Given the description of an element on the screen output the (x, y) to click on. 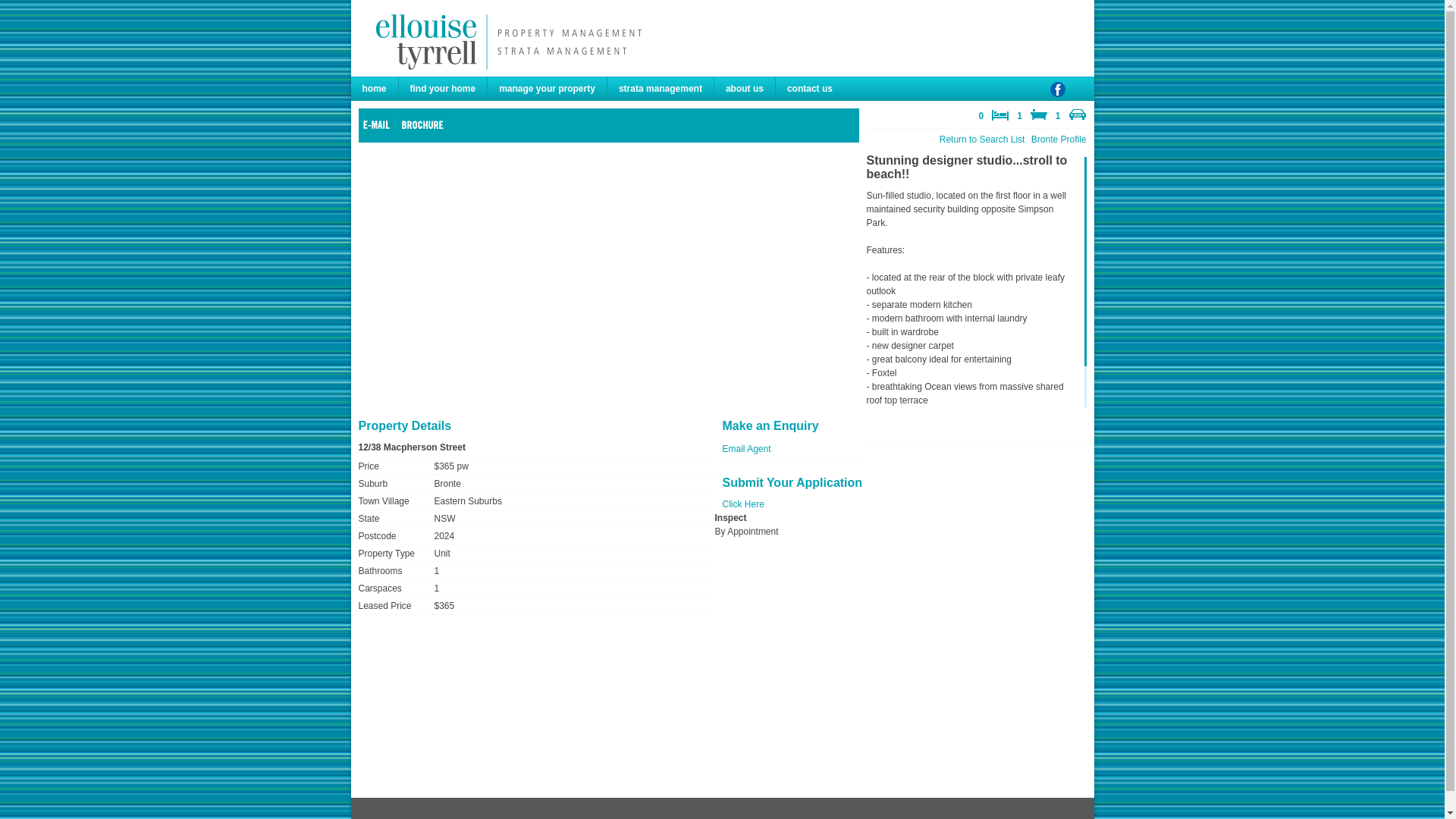
contact us Element type: text (809, 88)
Return to Search List Element type: text (982, 139)
strata management Element type: text (660, 88)
Email Agent Element type: text (745, 448)
Click Here Element type: text (742, 503)
Property Brochure Element type: hover (424, 124)
manage your property Element type: text (547, 88)
find your home Element type: text (443, 88)
Bronte Profile Element type: text (1058, 139)
home Element type: text (374, 88)
Follow us on Facebook Element type: hover (1057, 95)
Ellouise Tyrrell Property Management - Real Estate Element type: hover (504, 41)
about us Element type: text (744, 88)
